Given the description of an element on the screen output the (x, y) to click on. 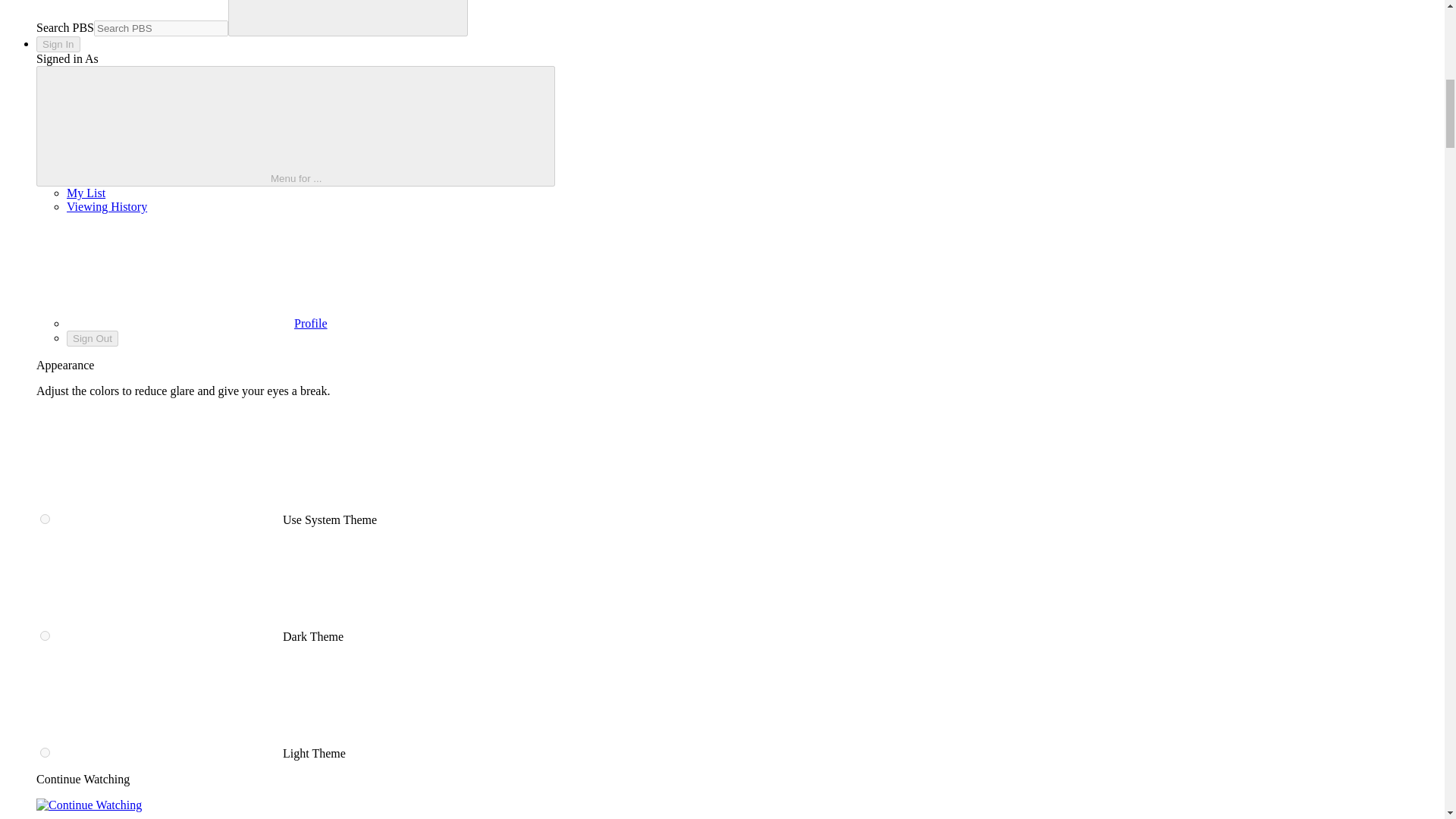
Sign Out (91, 338)
Sign In (58, 44)
My List (85, 192)
Profile (196, 323)
Viewing History (106, 205)
system (44, 519)
Menu for ... (295, 126)
dark (44, 635)
light (44, 752)
